Given the description of an element on the screen output the (x, y) to click on. 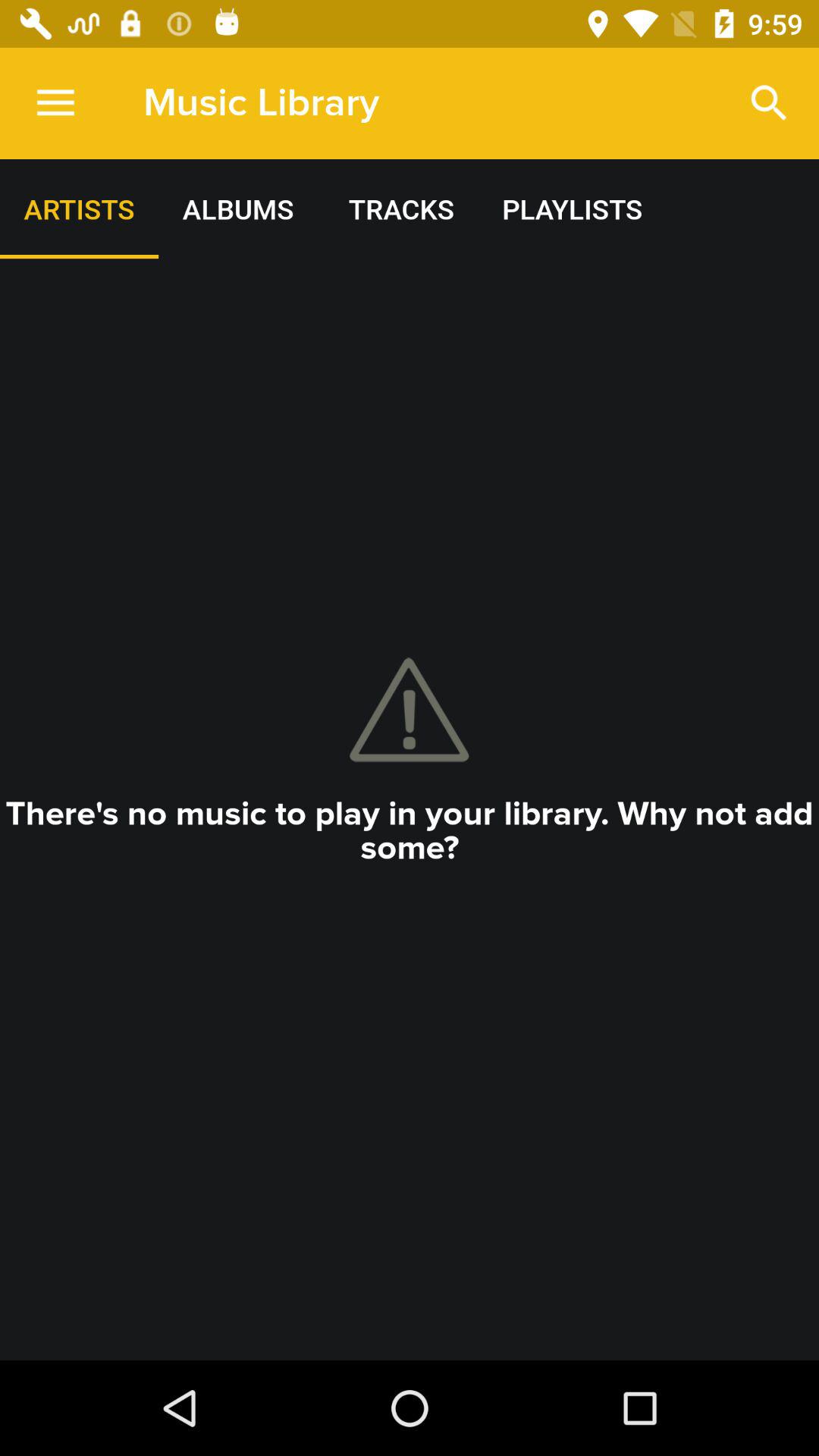
launch the icon to the left of music library (55, 103)
